Given the description of an element on the screen output the (x, y) to click on. 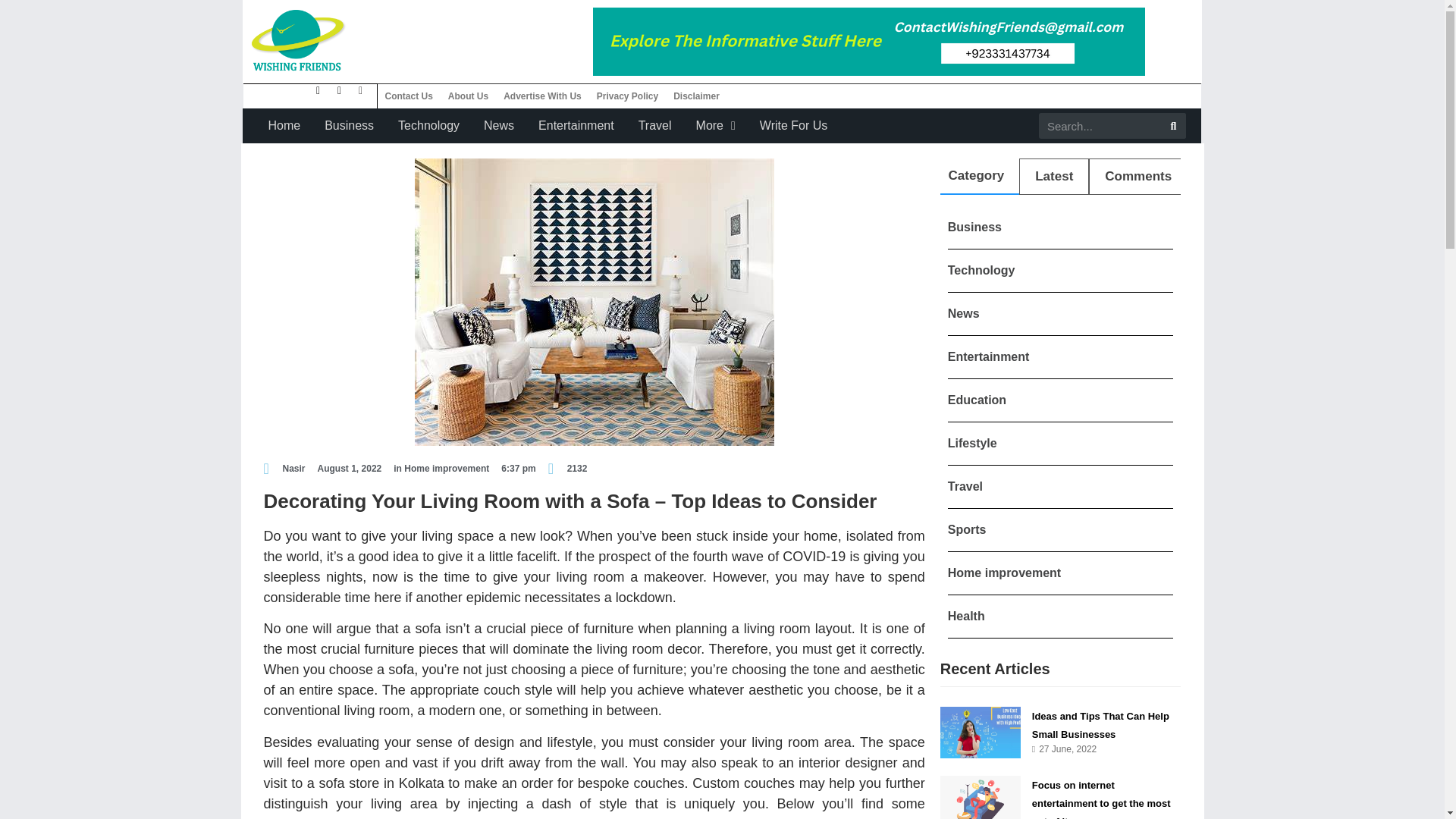
Travel (655, 125)
Advertise With Us (542, 96)
Home (284, 125)
More (716, 125)
Contact Us (409, 96)
Technology (428, 125)
Disclaimer (695, 96)
Business (349, 125)
Privacy Policy (627, 96)
Entertainment (575, 125)
